Given the description of an element on the screen output the (x, y) to click on. 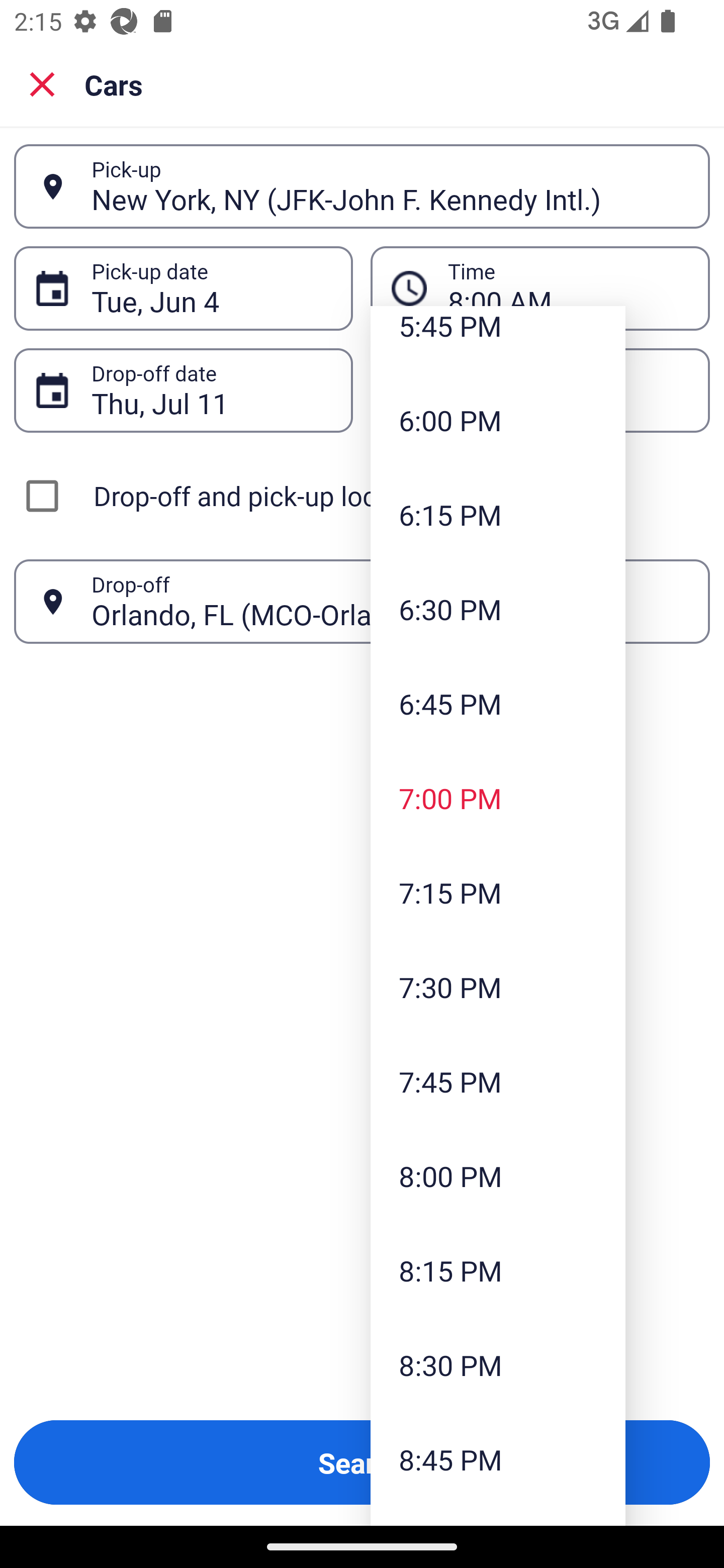
5:45 PM (497, 339)
6:00 PM (497, 420)
6:15 PM (497, 514)
6:30 PM (497, 608)
6:45 PM (497, 703)
7:00 PM (497, 798)
7:15 PM (497, 892)
7:30 PM (497, 986)
7:45 PM (497, 1081)
8:00 PM (497, 1175)
8:15 PM (497, 1270)
8:30 PM (497, 1364)
8:45 PM (497, 1459)
